Given the description of an element on the screen output the (x, y) to click on. 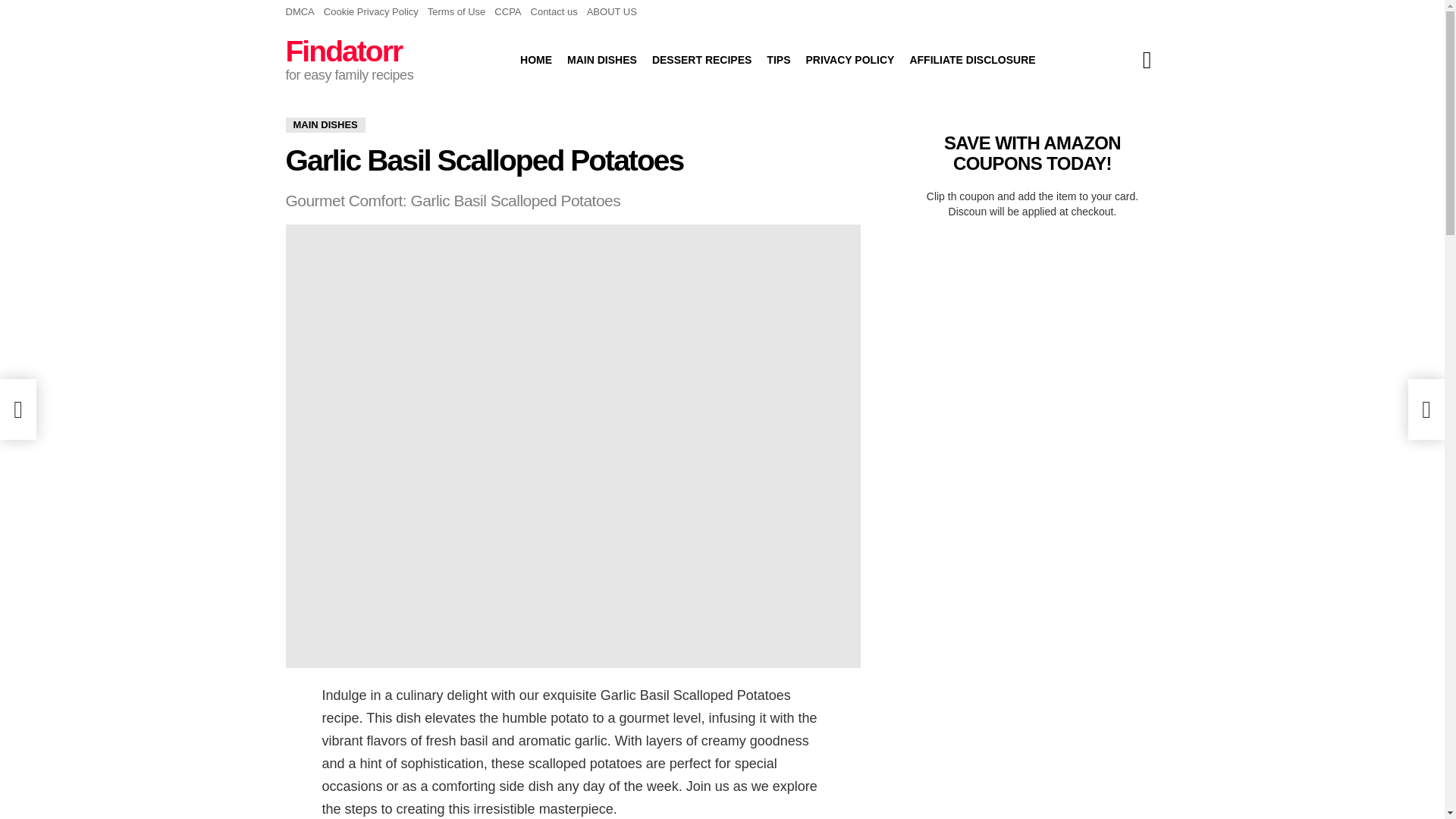
AFFILIATE DISCLOSURE (971, 59)
ABOUT US (611, 12)
Findatorr (343, 51)
SAVE WITH AMAZON COUPONS TODAY! (1032, 152)
Terms of Use (457, 12)
CCPA (508, 12)
MAIN DISHES (602, 59)
MAIN DISHES (325, 124)
TIPS (777, 59)
PRIVACY POLICY (849, 59)
HOME (535, 59)
DESSERT RECIPES (701, 59)
DMCA (299, 12)
Contact us (554, 12)
Cookie Privacy Policy (371, 12)
